Given the description of an element on the screen output the (x, y) to click on. 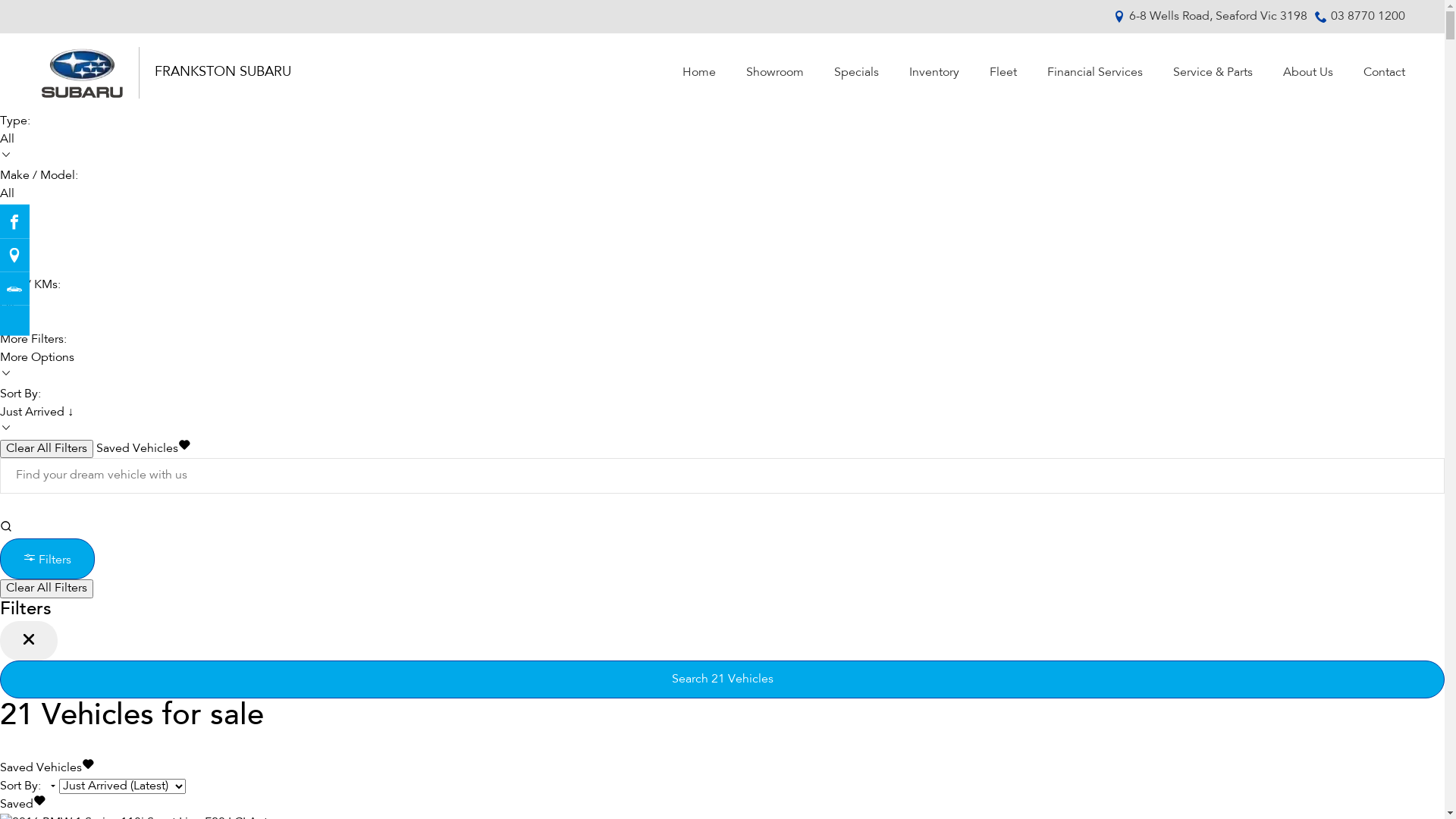
Service & Parts Element type: text (1212, 72)
Contact Element type: text (1376, 72)
FRANKSTON SUBARU Element type: text (222, 72)
Clear All Filters Element type: text (46, 588)
03 8770 1200 Element type: text (1367, 16)
Saved Element type: text (22, 804)
Filters Element type: text (47, 558)
About Us Element type: text (1307, 72)
Financial Services Element type: text (1094, 72)
Saved Vehicles Element type: text (143, 448)
Specials Element type: text (856, 72)
Home Element type: text (699, 72)
Saved Vehicles Element type: text (47, 768)
Clear All Filters Element type: text (46, 448)
Inventory Element type: text (933, 72)
Showroom Element type: text (775, 72)
6-8 Wells Road, Seaford Vic 3198 Element type: text (1217, 16)
Fleet Element type: text (1002, 72)
